Given the description of an element on the screen output the (x, y) to click on. 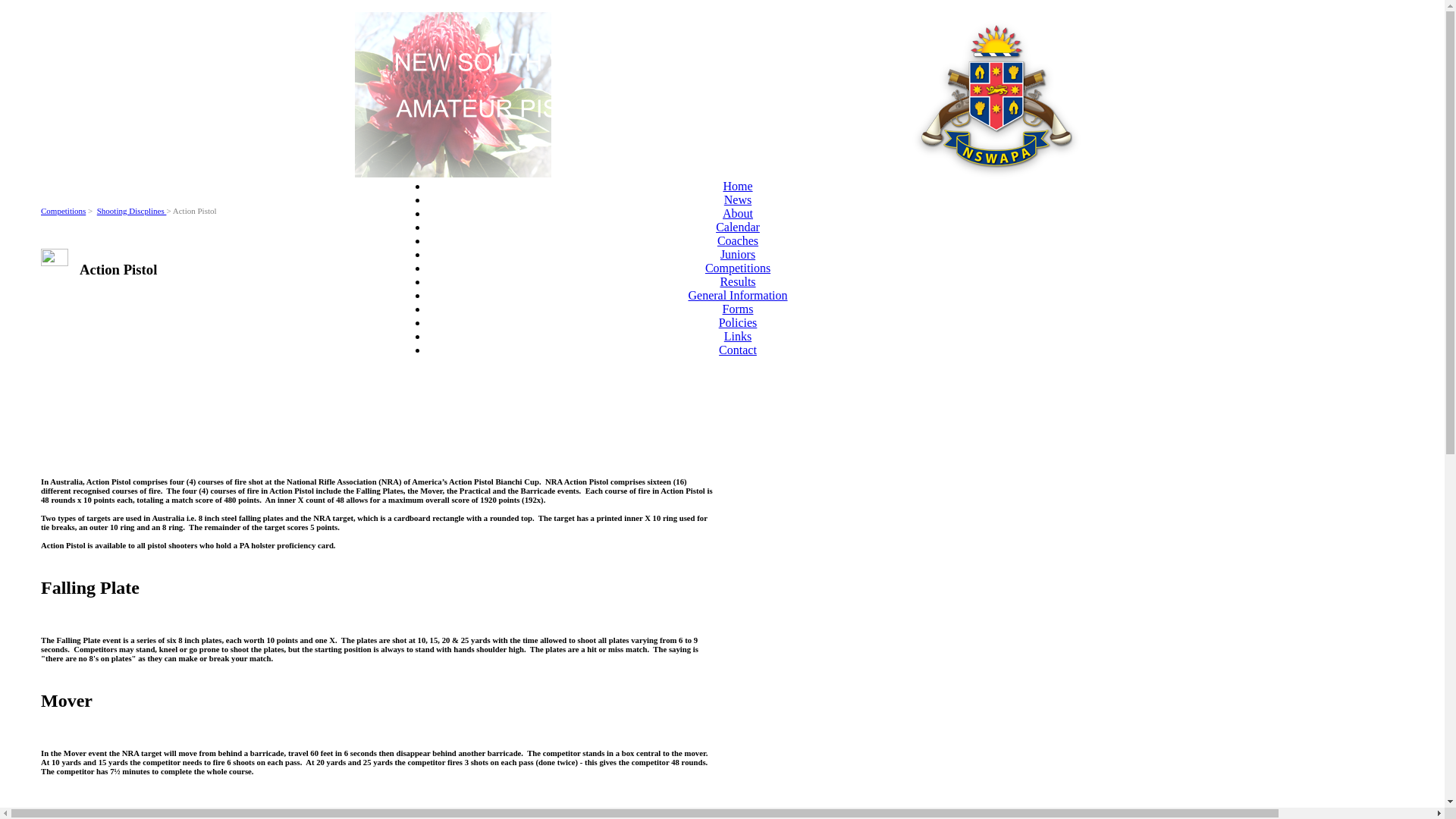
Contact Element type: text (737, 349)
General Information Element type: text (737, 294)
Competitions Element type: text (62, 210)
Results Element type: text (737, 281)
News Element type: text (737, 199)
Juniors Element type: text (737, 253)
Shooting Discplines Element type: text (131, 210)
Forms Element type: text (737, 308)
Calendar Element type: text (737, 226)
Coaches Element type: text (737, 240)
Competitions Element type: text (737, 267)
About Element type: text (737, 213)
Policies Element type: text (737, 322)
Links Element type: text (737, 335)
Home Element type: text (737, 185)
